Given the description of an element on the screen output the (x, y) to click on. 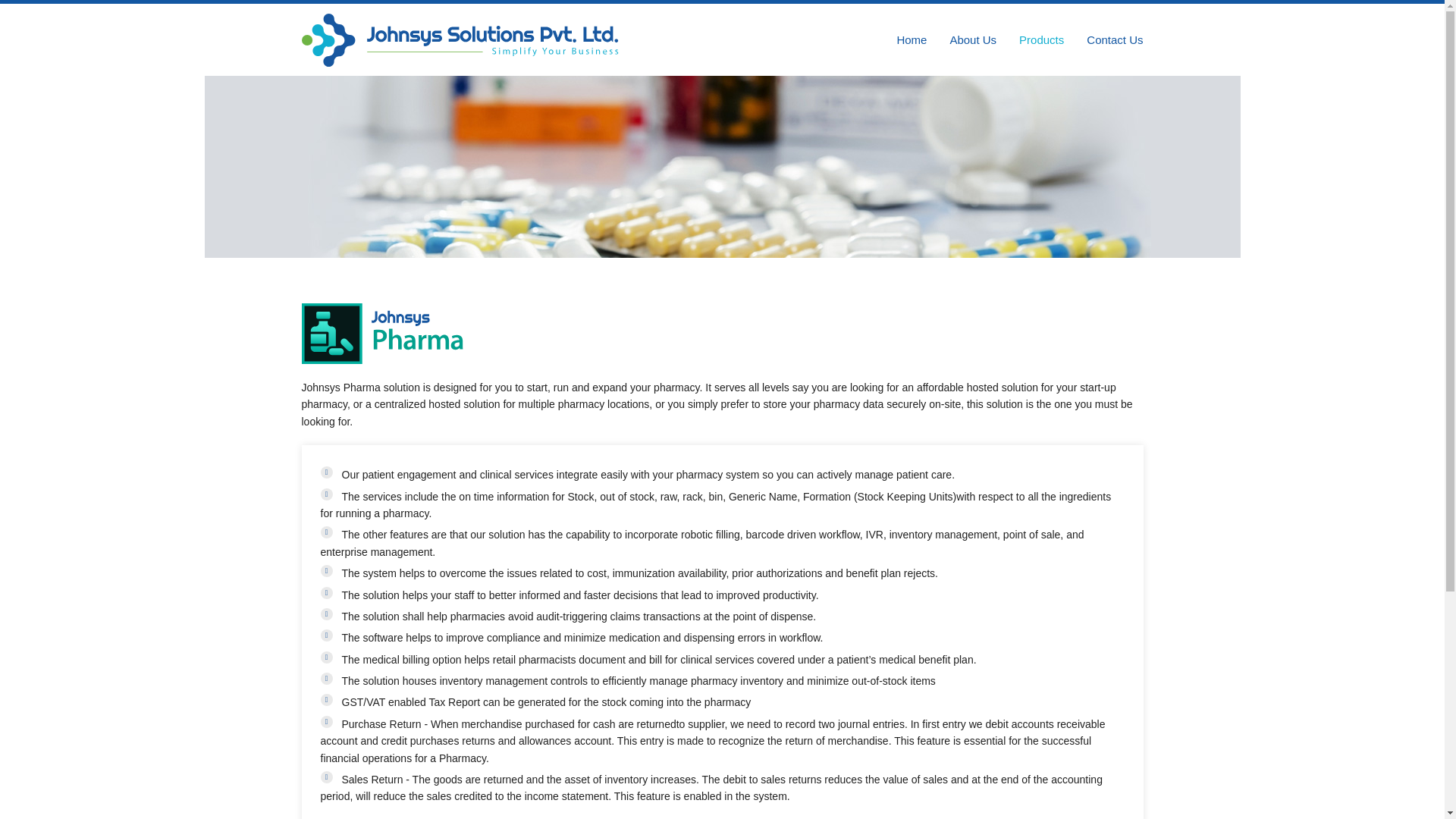
Contact Us (1114, 39)
About Us (972, 39)
Products (1041, 39)
